Given the description of an element on the screen output the (x, y) to click on. 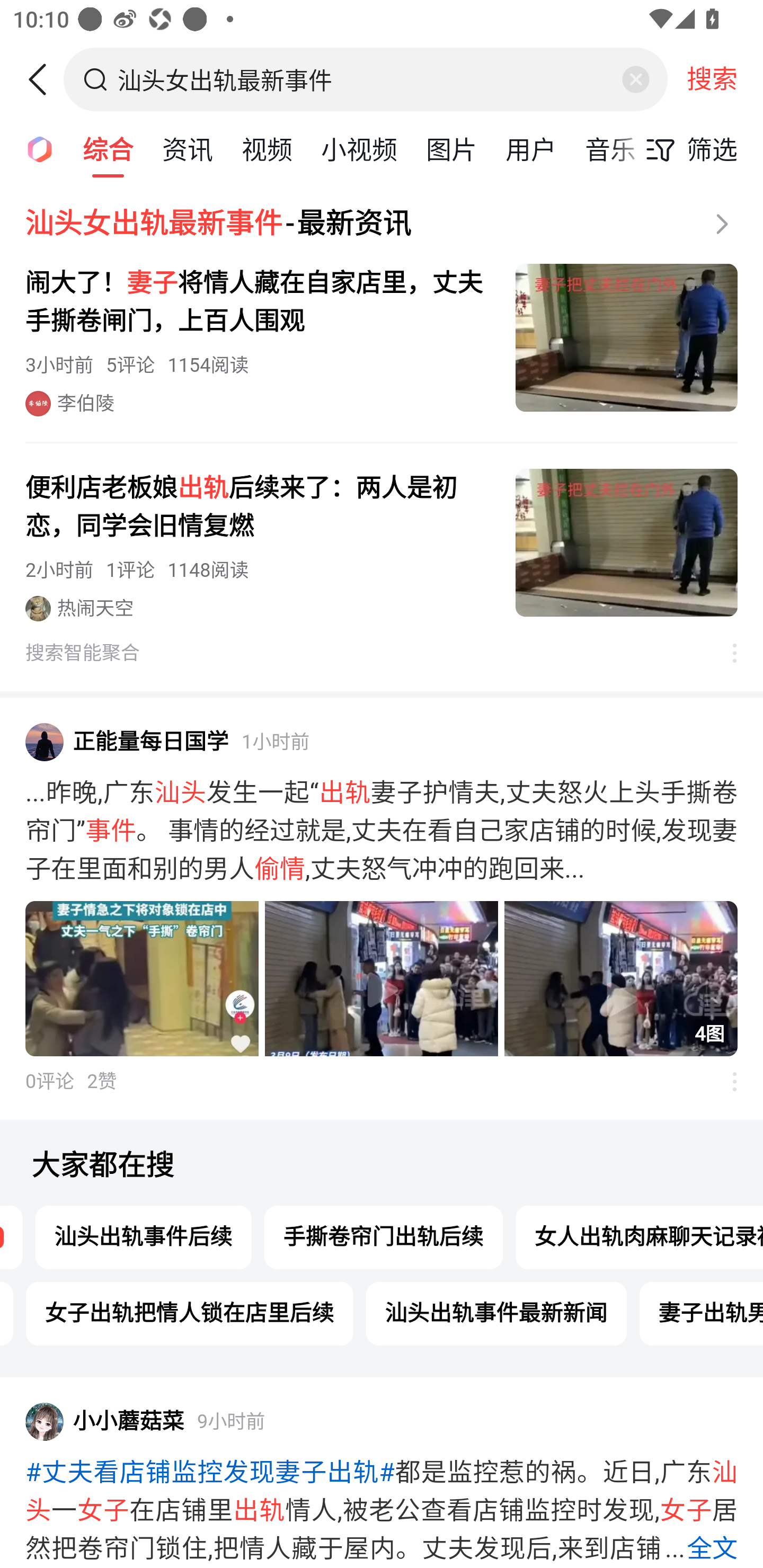
搜索框，汕头女出轨最新事件 (366, 79)
搜索 (711, 79)
返回 (44, 79)
清除 (635, 79)
资讯 (187, 148)
视频 (266, 148)
小视频 (359, 148)
图片 (451, 148)
用户 (530, 148)
音乐 (610, 148)
筛选 (686, 149)
AI问答 (34, 148)
汕头女出轨最新事件 -最新资讯 (381, 223)
闹大了！妻子将情人藏在自家店里，丈夫手撕卷闸门，上百人围观 3小时前5评论1154阅读 李伯陵 (381, 340)
便利店老板娘出轨后续来了：两人是初恋，同学会旧情复燃 2小时前1评论1148阅读 热闹天空 (381, 544)
举报反馈 (724, 652)
正能量每日国学 1小时前 (381, 741)
4图 (381, 978)
举报反馈 (724, 1080)
汕头出轨事件后续 (143, 1237)
手撕卷帘门出轨后续 (383, 1237)
女人出轨肉麻聊天记录被爆 (639, 1237)
女子出轨把情人锁在店里后续 (189, 1313)
汕头出轨事件最新新闻 (496, 1313)
小小蘑菇菜 9小时前 (381, 1420)
